Given the description of an element on the screen output the (x, y) to click on. 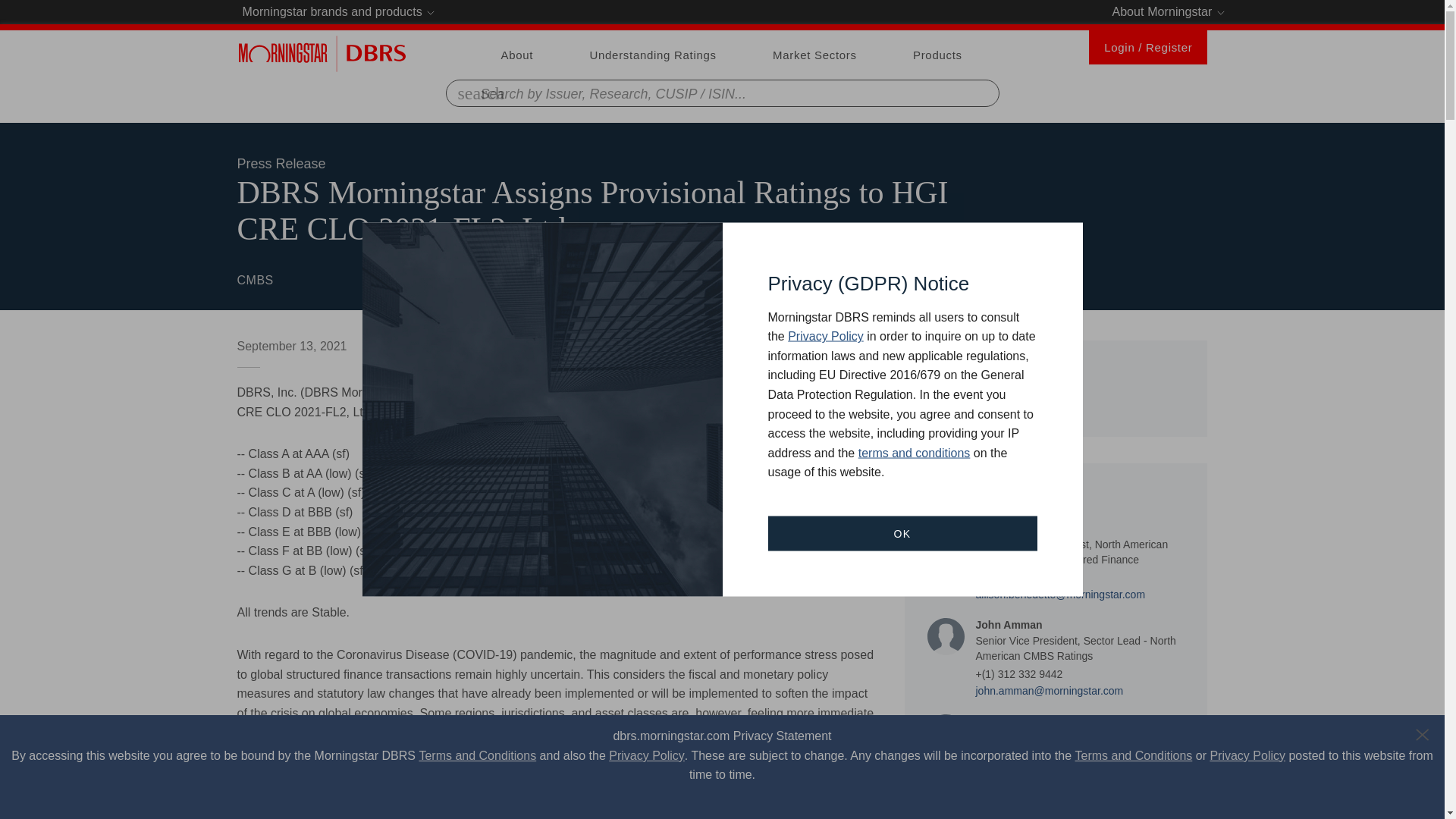
Issuers (1055, 388)
